Given the description of an element on the screen output the (x, y) to click on. 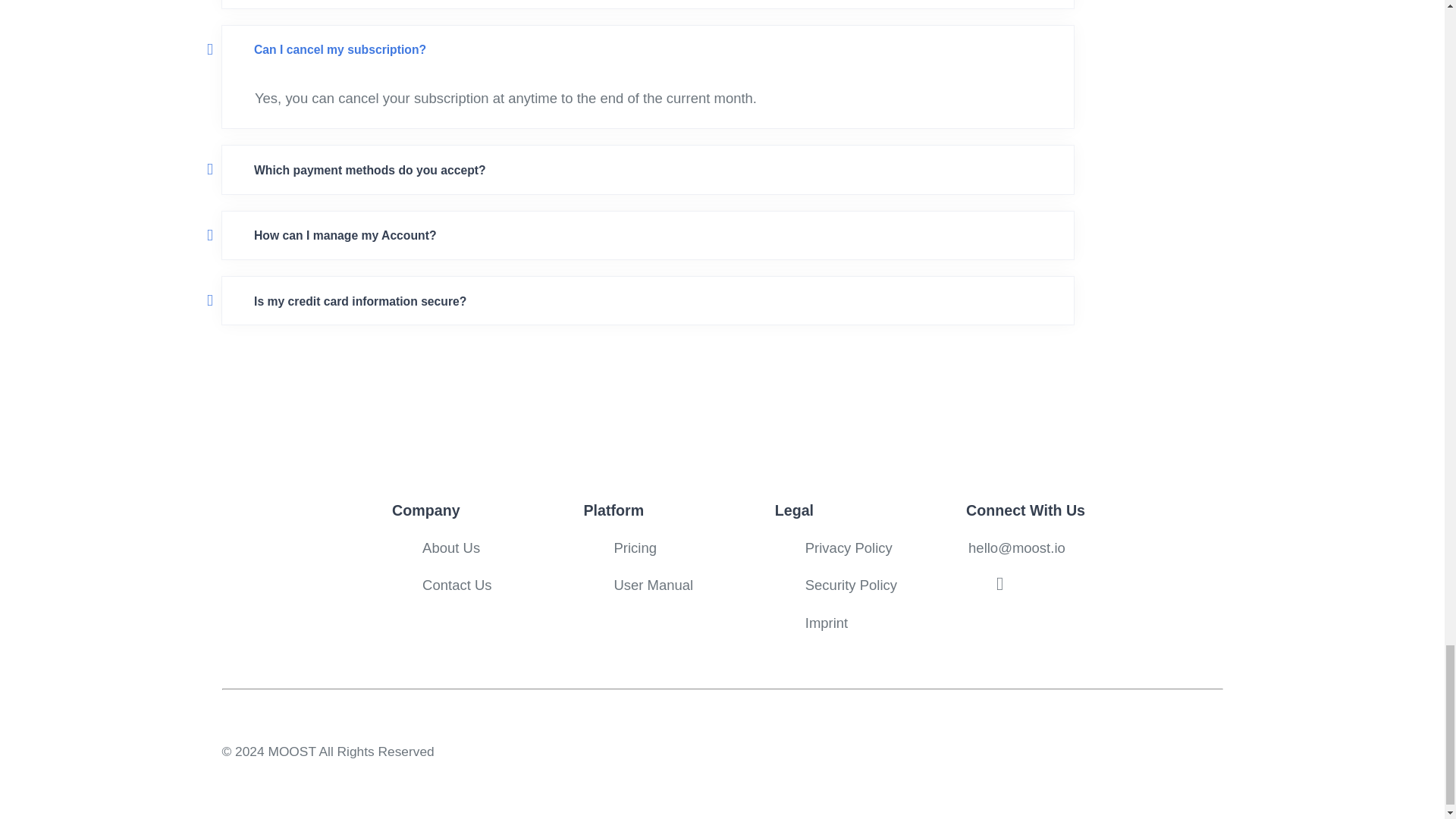
Privacy Policy (848, 547)
Security Policy (850, 584)
How can I manage my Account? (647, 235)
About Us (451, 547)
Can I cancel my subscription? (647, 49)
Pricing (634, 547)
Is my credit card information secure? (647, 301)
User Manual (652, 584)
Contact Us (457, 584)
Imprint (826, 622)
